Given the description of an element on the screen output the (x, y) to click on. 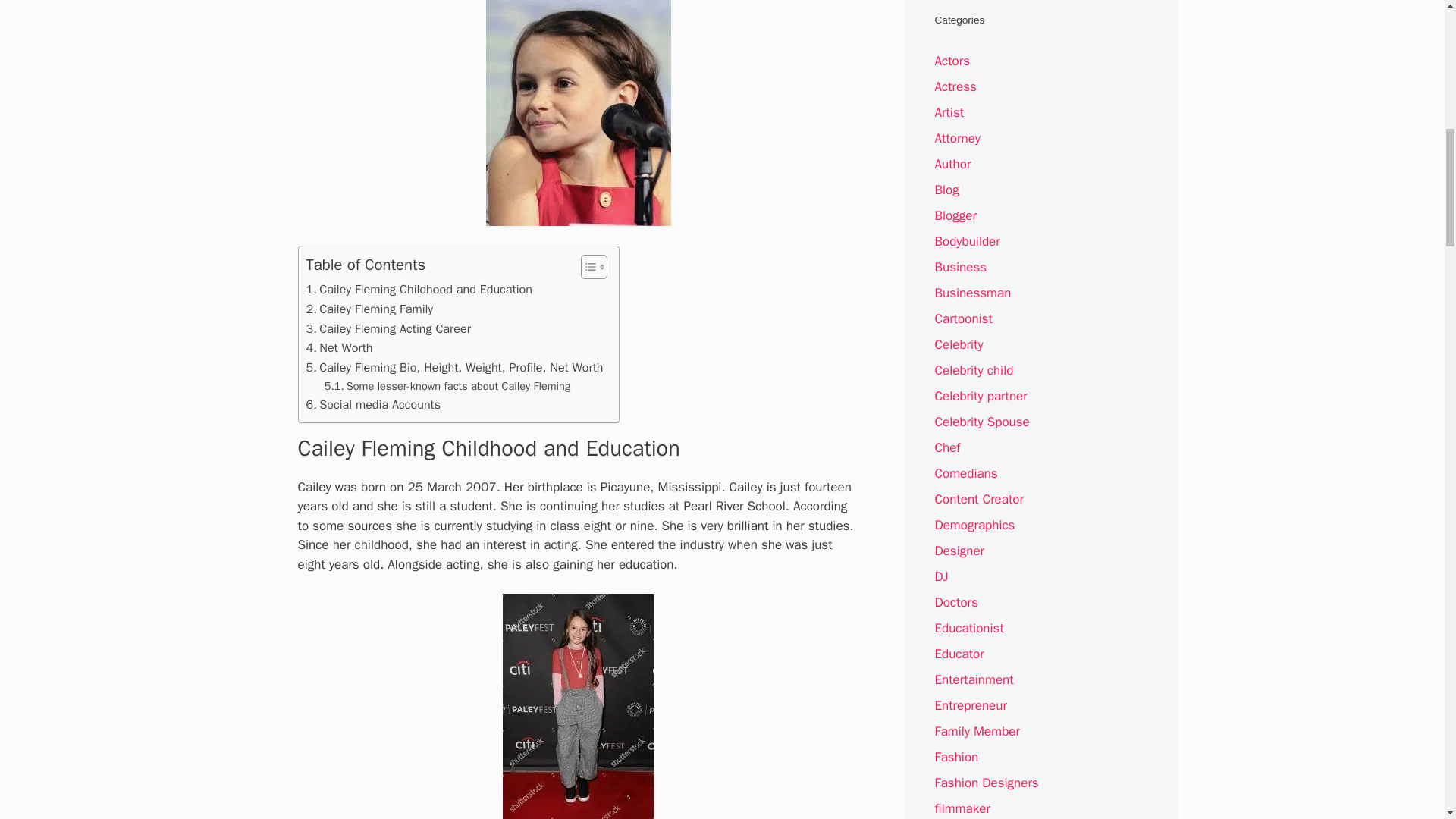
Some lesser-known facts about Cailey Fleming (447, 385)
Cailey Fleming Family (369, 309)
Net Worth (338, 347)
Scroll back to top (1406, 720)
Some lesser-known facts about Cailey Fleming (447, 385)
Cailey Fleming Acting Career (387, 329)
Cailey Fleming Childhood and Education (418, 289)
Cailey Fleming Bio, Height, Weight, Profile, Net Worth (454, 367)
Social media Accounts (373, 404)
Cailey Fleming Family (369, 309)
Cailey Fleming Acting Career (387, 329)
Social media Accounts (373, 404)
Net Worth (338, 347)
Cailey Fleming Childhood and Education (418, 289)
